Given the description of an element on the screen output the (x, y) to click on. 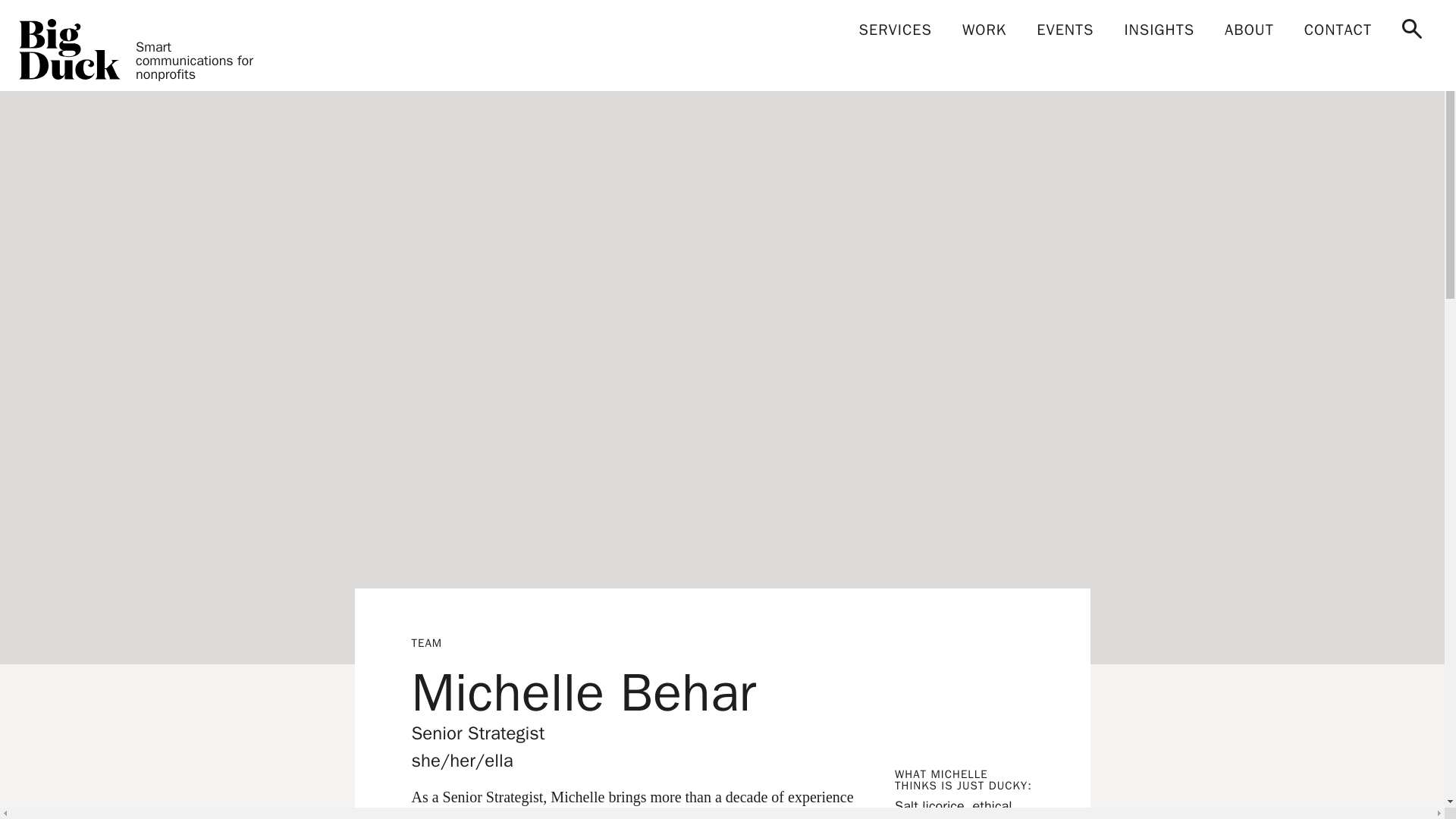
Smart communications for nonprofits (145, 49)
TEAM (426, 794)
ABOUT (1248, 30)
WORK (984, 30)
INSIGHTS (1158, 30)
EVENTS (1065, 30)
SERVICES (895, 30)
CONTACT (1337, 30)
